Given the description of an element on the screen output the (x, y) to click on. 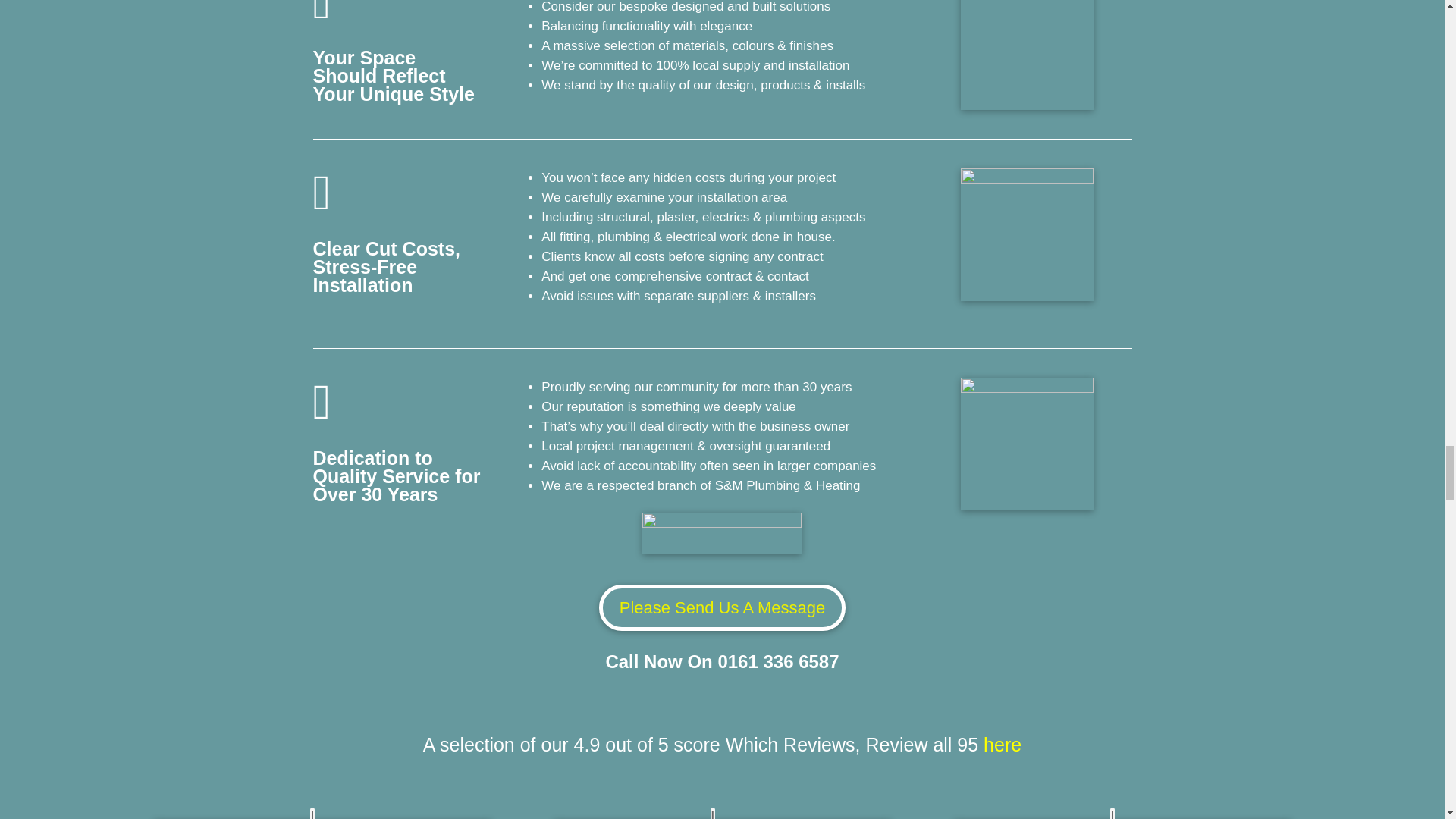
here (1003, 744)
Call Now On 0161 336 6587 (721, 661)
Please Send Us A Message (721, 607)
